Given the description of an element on the screen output the (x, y) to click on. 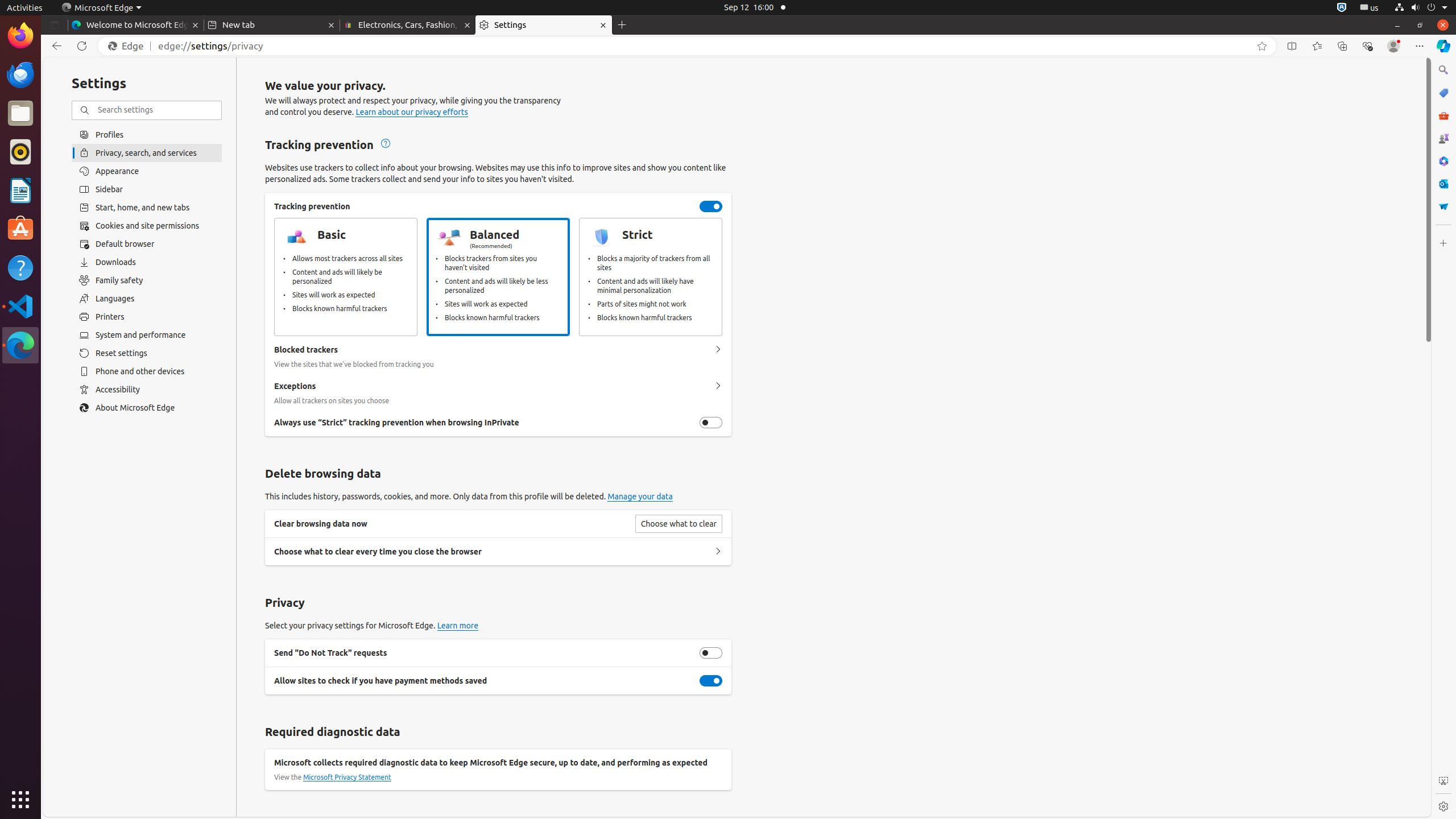
LibreOffice Writer Element type: push-button (20, 190)
Microsoft Shopping Element type: push-button (1443, 92)
Microsoft Privacy Statement Element type: link (346, 777)
Send "Do Not Track" requests Element type: check-box (710, 652)
Learn about our privacy efforts Element type: link (411, 112)
